Given the description of an element on the screen output the (x, y) to click on. 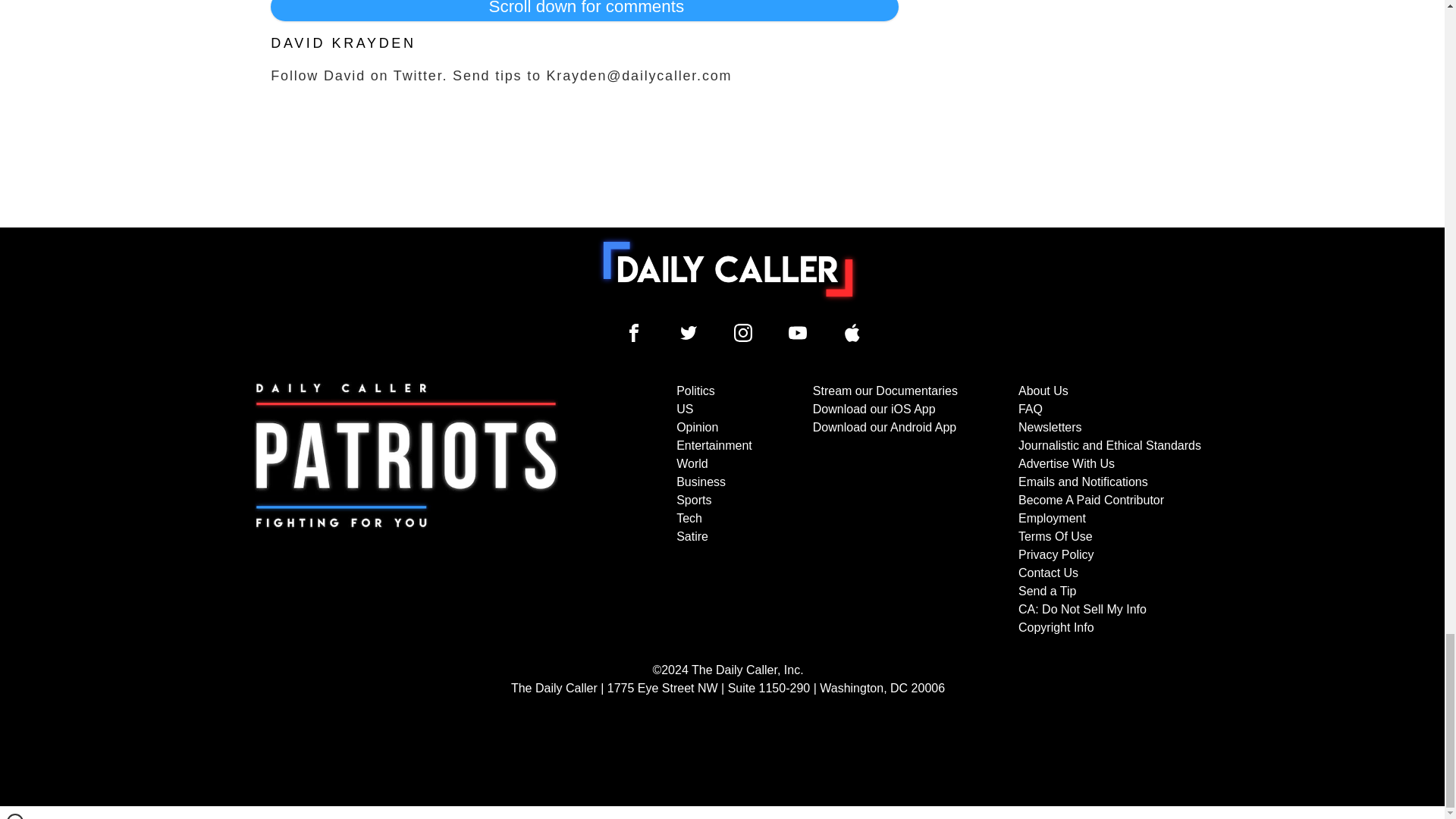
Scroll down for comments (584, 10)
Subscribe to The Daily Caller (405, 509)
Daily Caller YouTube (797, 332)
To home page (727, 268)
Daily Caller YouTube (852, 332)
Daily Caller Instagram (742, 332)
Daily Caller Twitter (688, 332)
Daily Caller Facebook (633, 332)
